Given the description of an element on the screen output the (x, y) to click on. 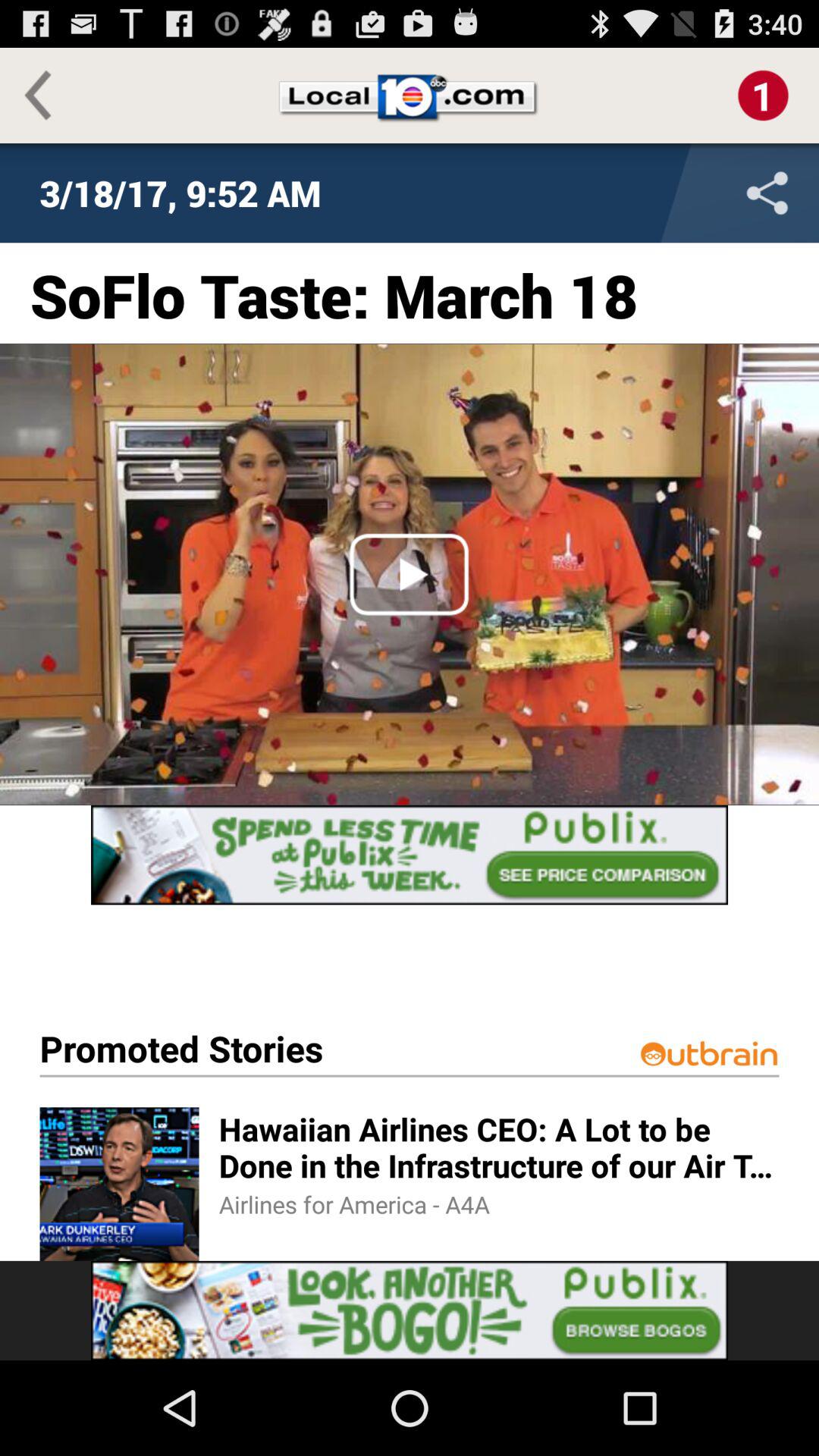
share (667, 192)
